Given the description of an element on the screen output the (x, y) to click on. 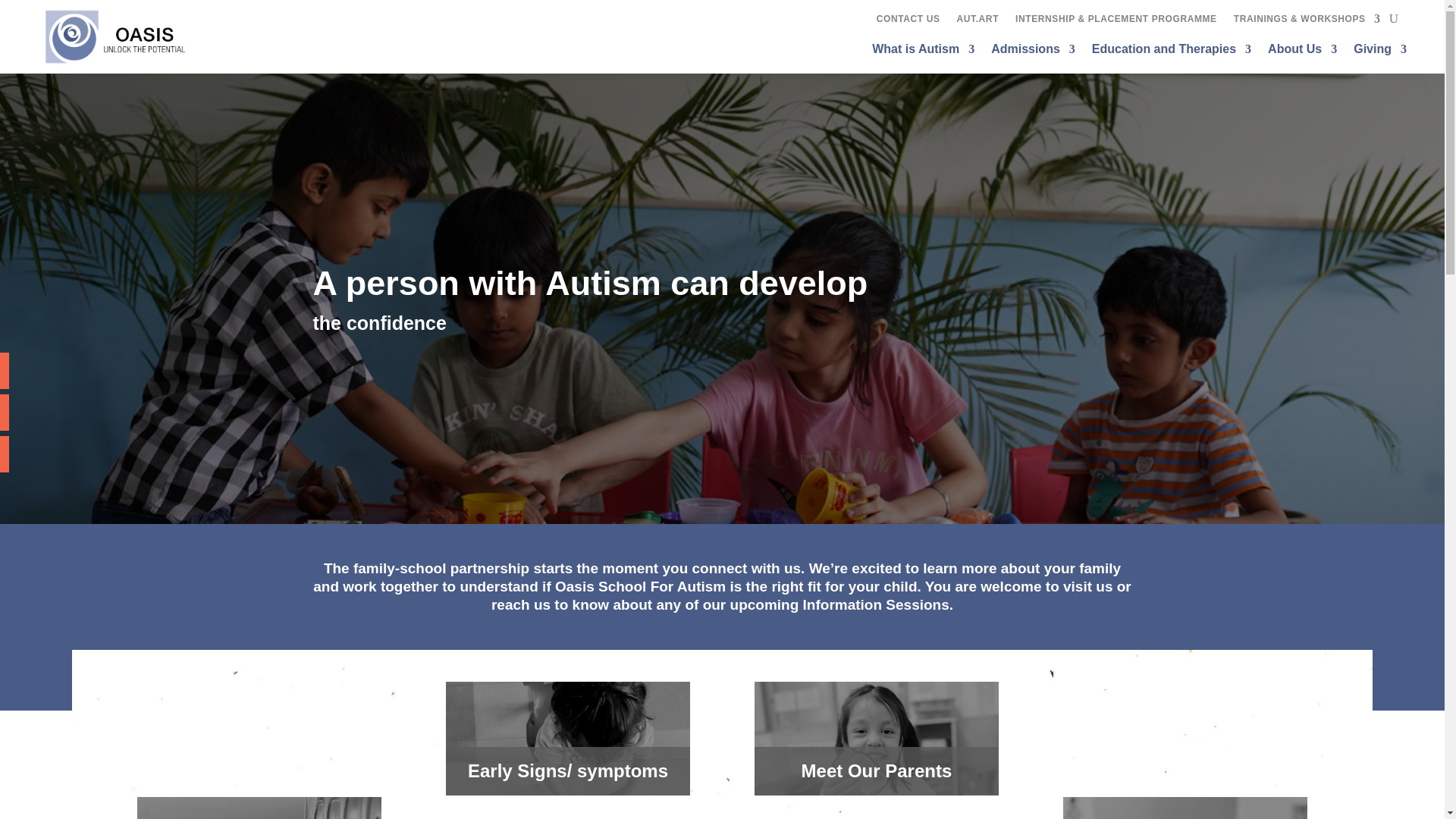
AUT.ART (977, 21)
About Us (1302, 52)
Admissions (1033, 52)
Education and Therapies (1171, 52)
CONTACT US (908, 21)
What is Autism (923, 52)
